Given the description of an element on the screen output the (x, y) to click on. 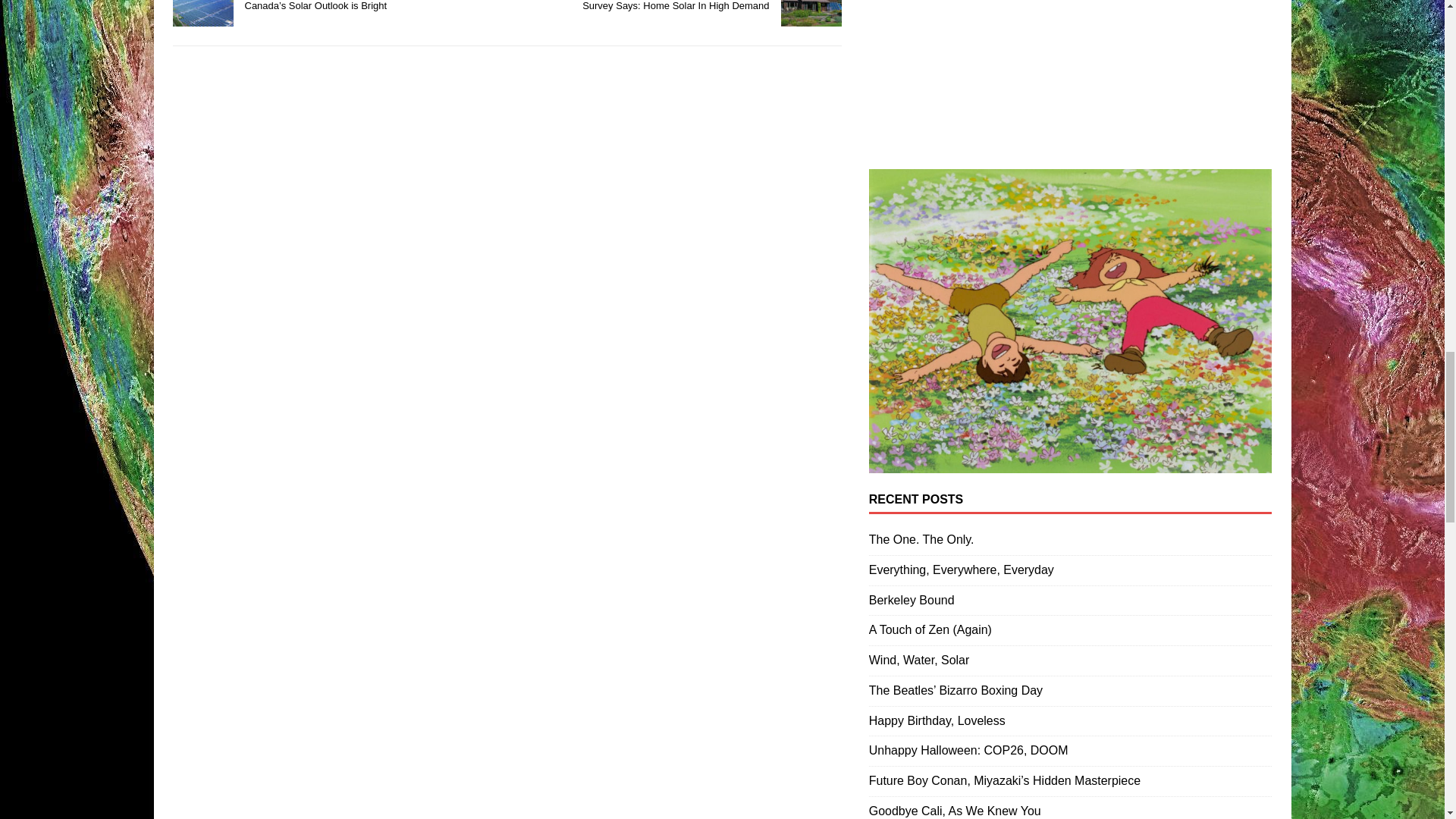
YouTube video player (1070, 71)
